Given the description of an element on the screen output the (x, y) to click on. 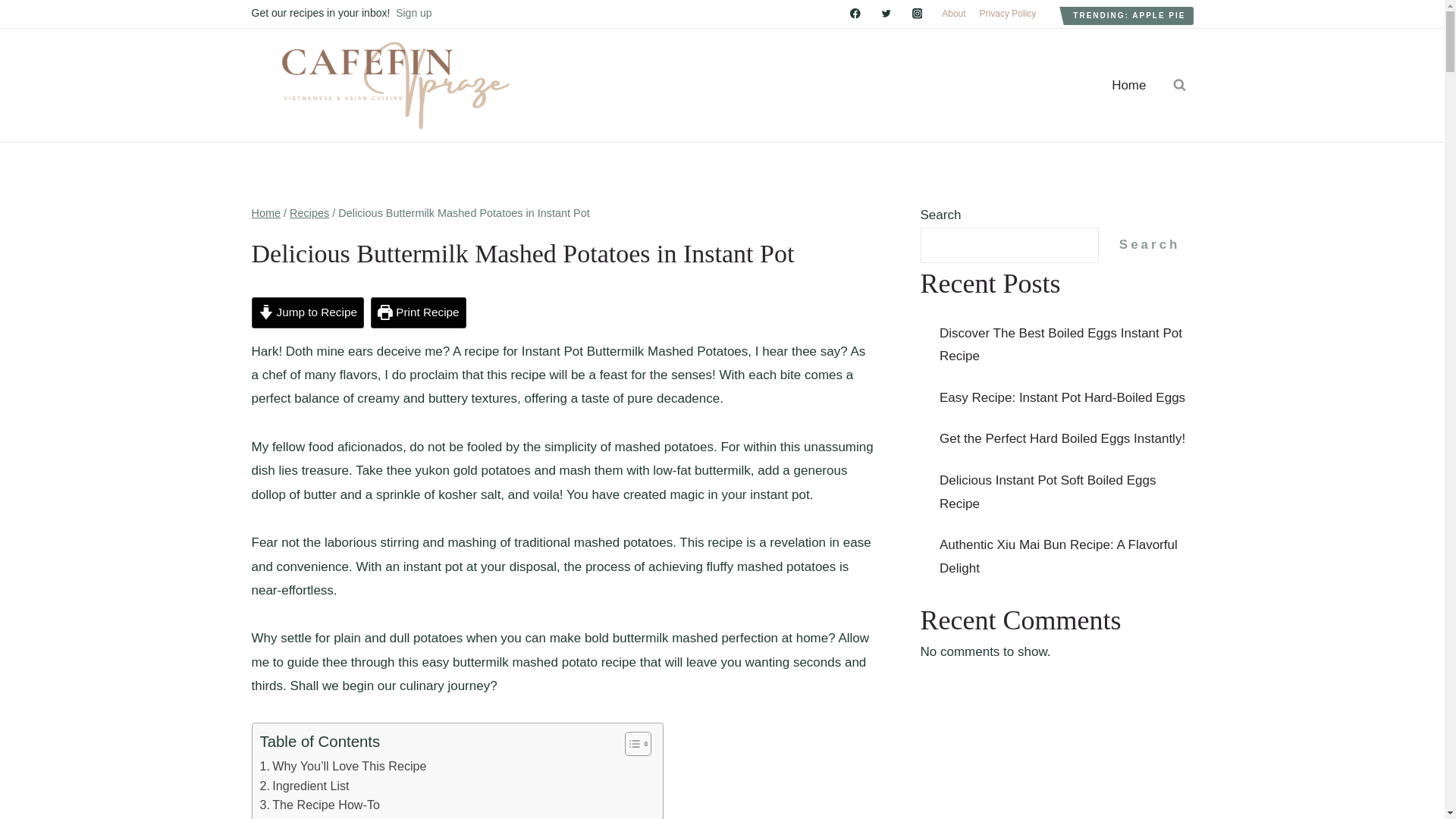
The Recipe How-To (318, 804)
Ingredient List (304, 786)
Substitutions and Variations (341, 816)
Home (266, 213)
Sign up (413, 12)
Ingredient List (304, 786)
Privacy Policy (1007, 13)
Print Recipe (418, 312)
Recipes (309, 213)
Substitutions and Variations (341, 816)
Home (1128, 84)
About (953, 13)
TRENDING: APPLE PIE (1128, 15)
The Recipe How-To (318, 804)
Jump to Recipe (307, 312)
